Given the description of an element on the screen output the (x, y) to click on. 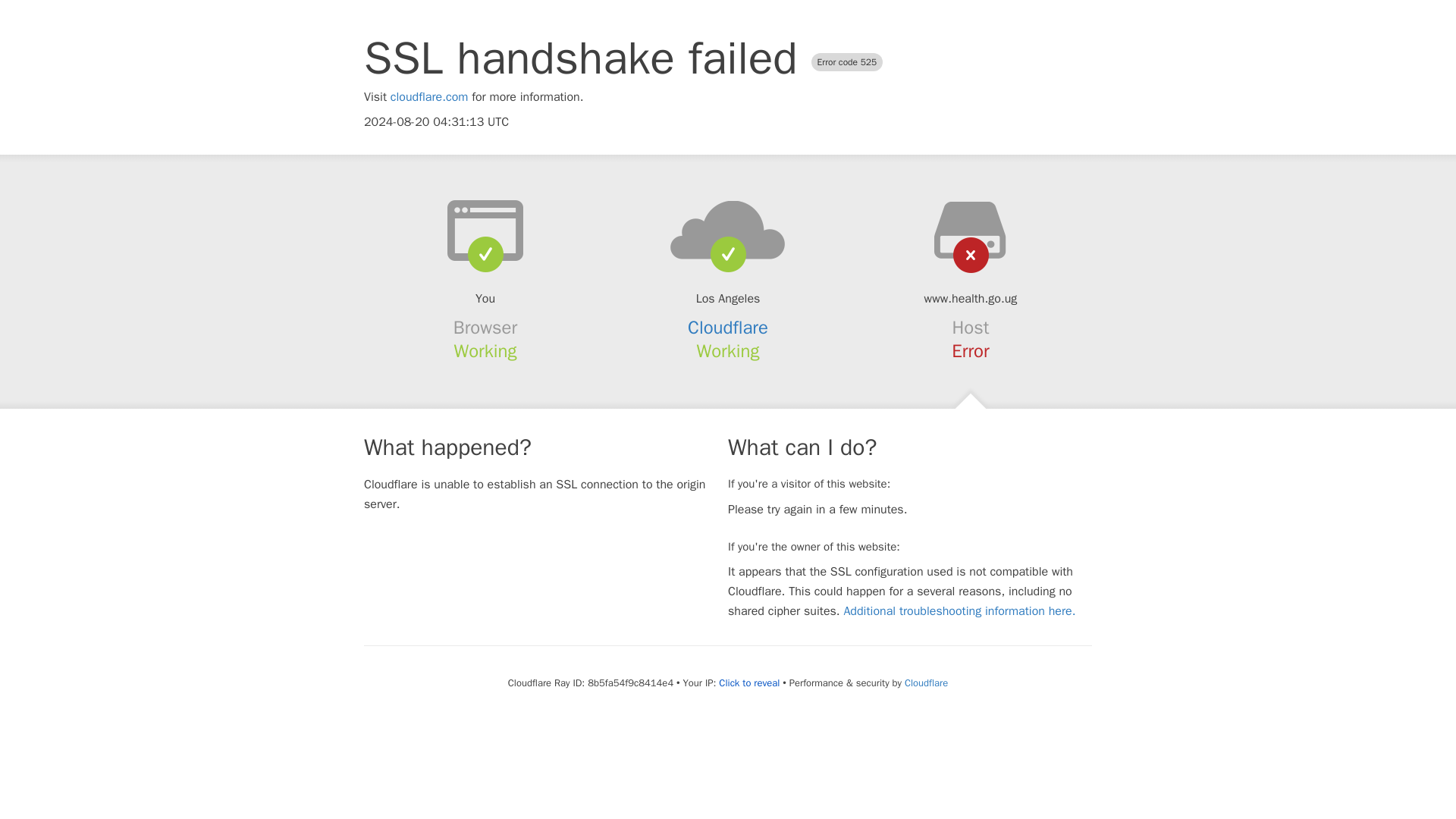
cloudflare.com (429, 96)
Additional troubleshooting information here. (959, 611)
Cloudflare (925, 682)
Click to reveal (748, 683)
Cloudflare (727, 327)
